Given the description of an element on the screen output the (x, y) to click on. 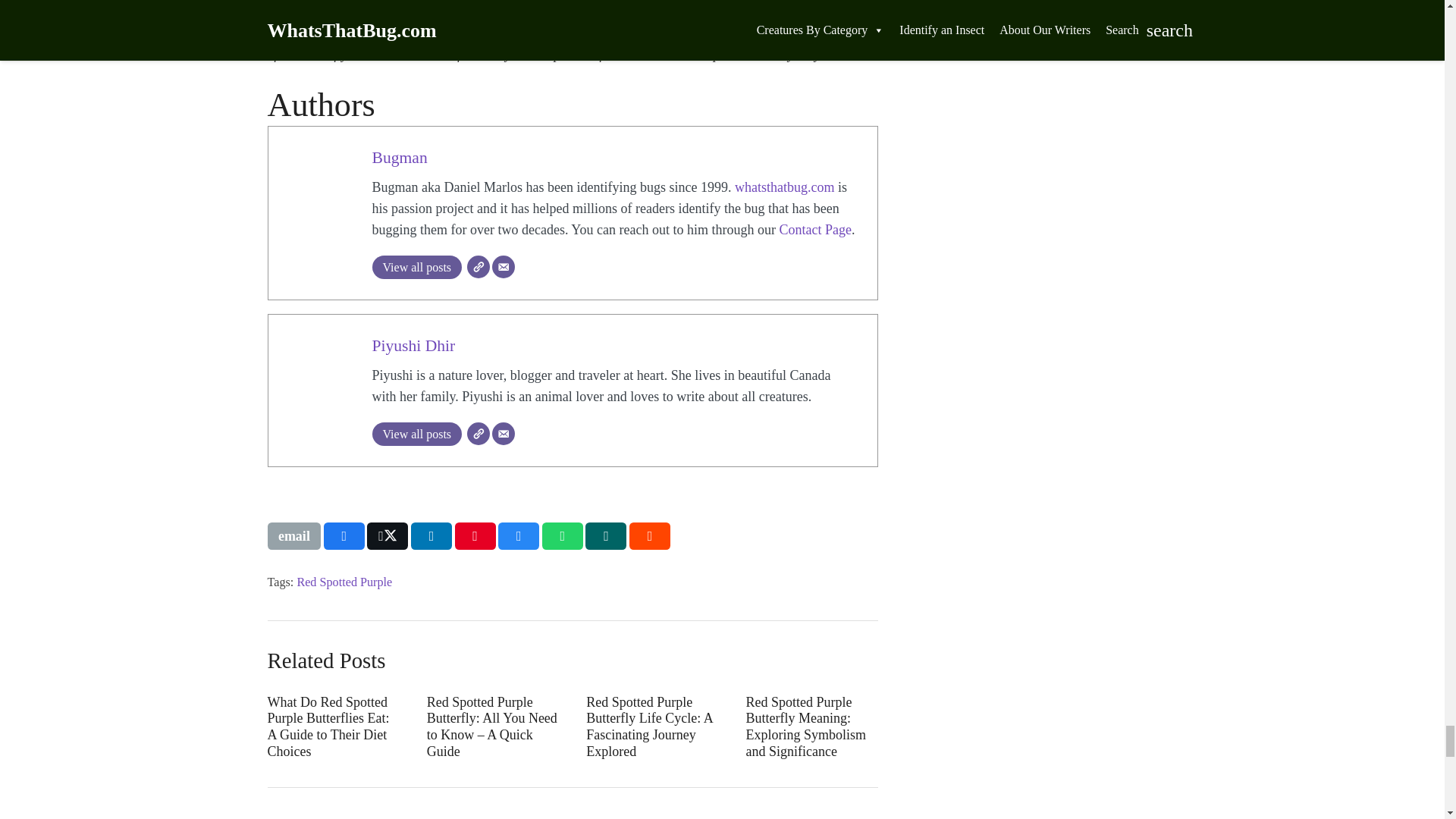
Email this (293, 535)
Share this (430, 535)
Bugman (398, 157)
Share this (344, 535)
Tweet this (386, 535)
View all posts (416, 433)
Piyushi Dhir (412, 345)
View all posts (416, 267)
